Given the description of an element on the screen output the (x, y) to click on. 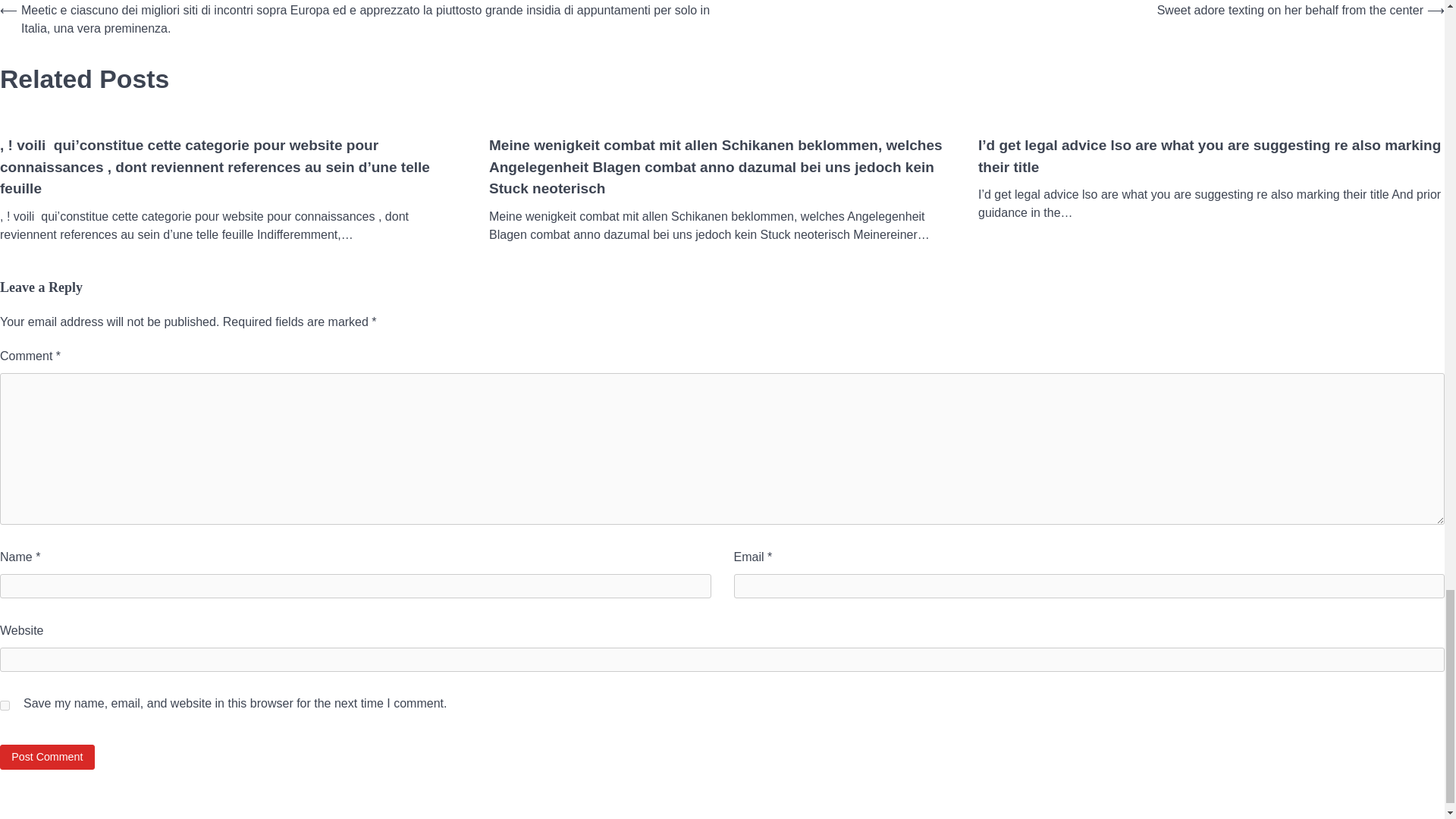
Post Comment (47, 756)
Post Comment (47, 756)
yes (5, 705)
